Given the description of an element on the screen output the (x, y) to click on. 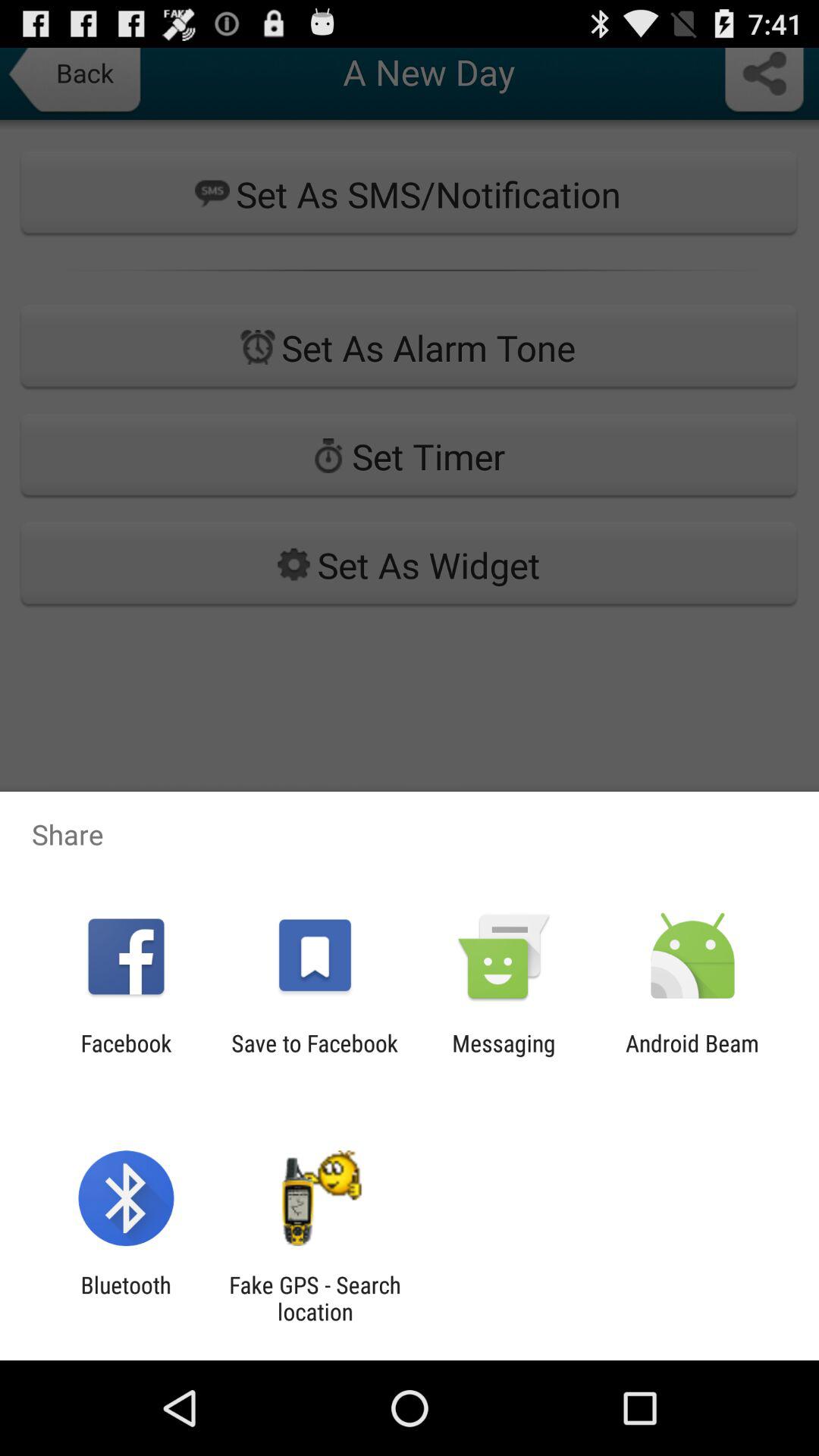
choose the item next to the facebook (314, 1056)
